Given the description of an element on the screen output the (x, y) to click on. 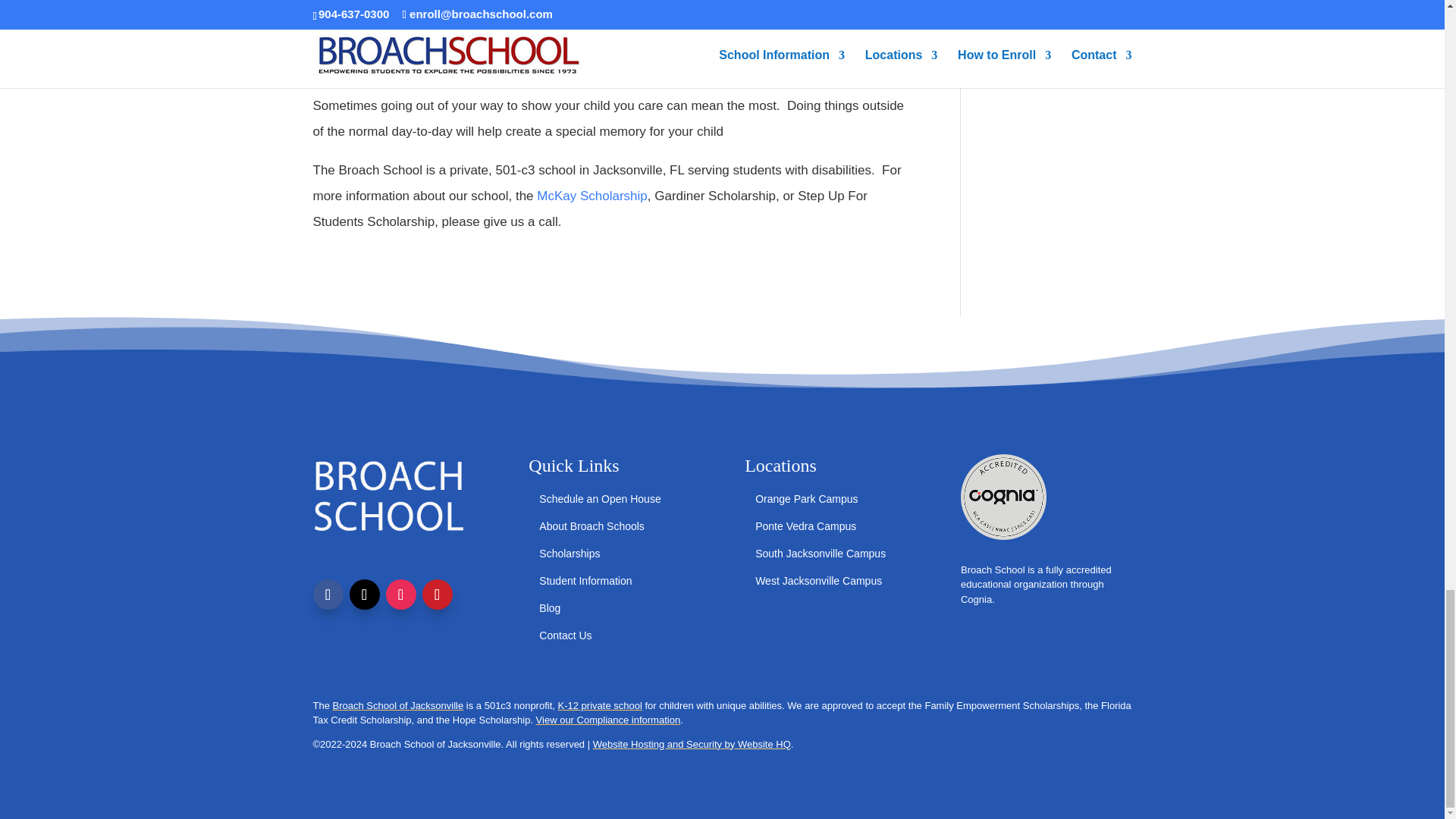
Follow on Pinterest (436, 594)
Broach School Logo Stacked (389, 505)
Follow on Instagram (399, 594)
McKay Scholarship (592, 196)
Follow on Facebook (327, 594)
Follow on X (363, 594)
Cognia Accredited (1003, 496)
